Given the description of an element on the screen output the (x, y) to click on. 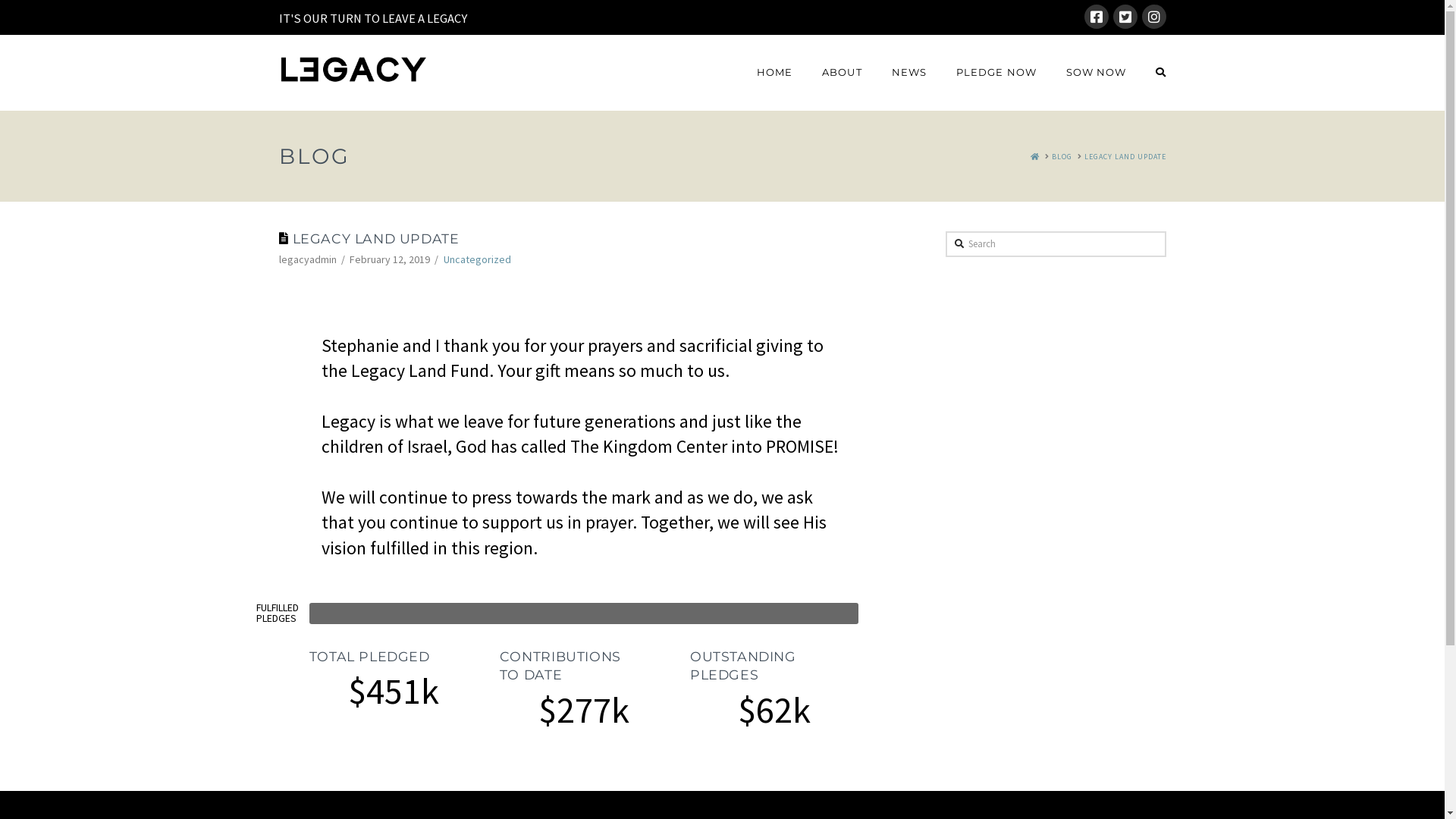
LEGACY LAND UPDATE Element type: text (1125, 156)
Uncategorized Element type: text (477, 259)
HOME Element type: text (1033, 156)
SOW NOW Element type: text (1096, 72)
HOME Element type: text (773, 72)
Instagram Element type: hover (1154, 16)
Twitter Element type: hover (1125, 16)
Facebook Element type: hover (1096, 16)
ABOUT Element type: text (840, 72)
BLOG Element type: text (1061, 156)
PLEDGE NOW Element type: text (996, 72)
NEWS Element type: text (908, 72)
